Given the description of an element on the screen output the (x, y) to click on. 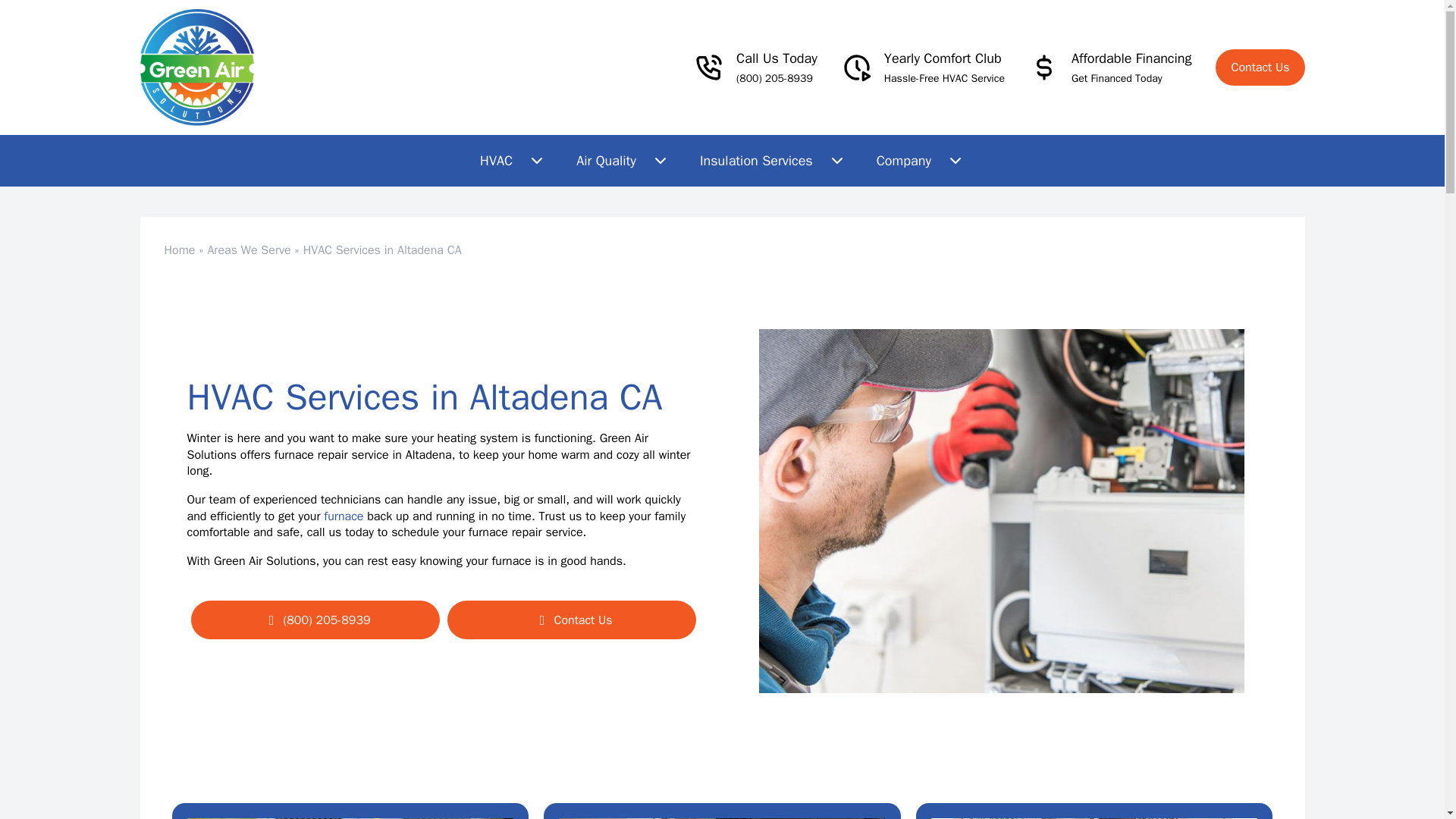
Air Quality (622, 160)
Get Financed Today (1116, 78)
Contact Us (1259, 67)
Hassle-Free HVAC Service (943, 78)
HVAC (512, 160)
Insulation Services (772, 160)
